Given the description of an element on the screen output the (x, y) to click on. 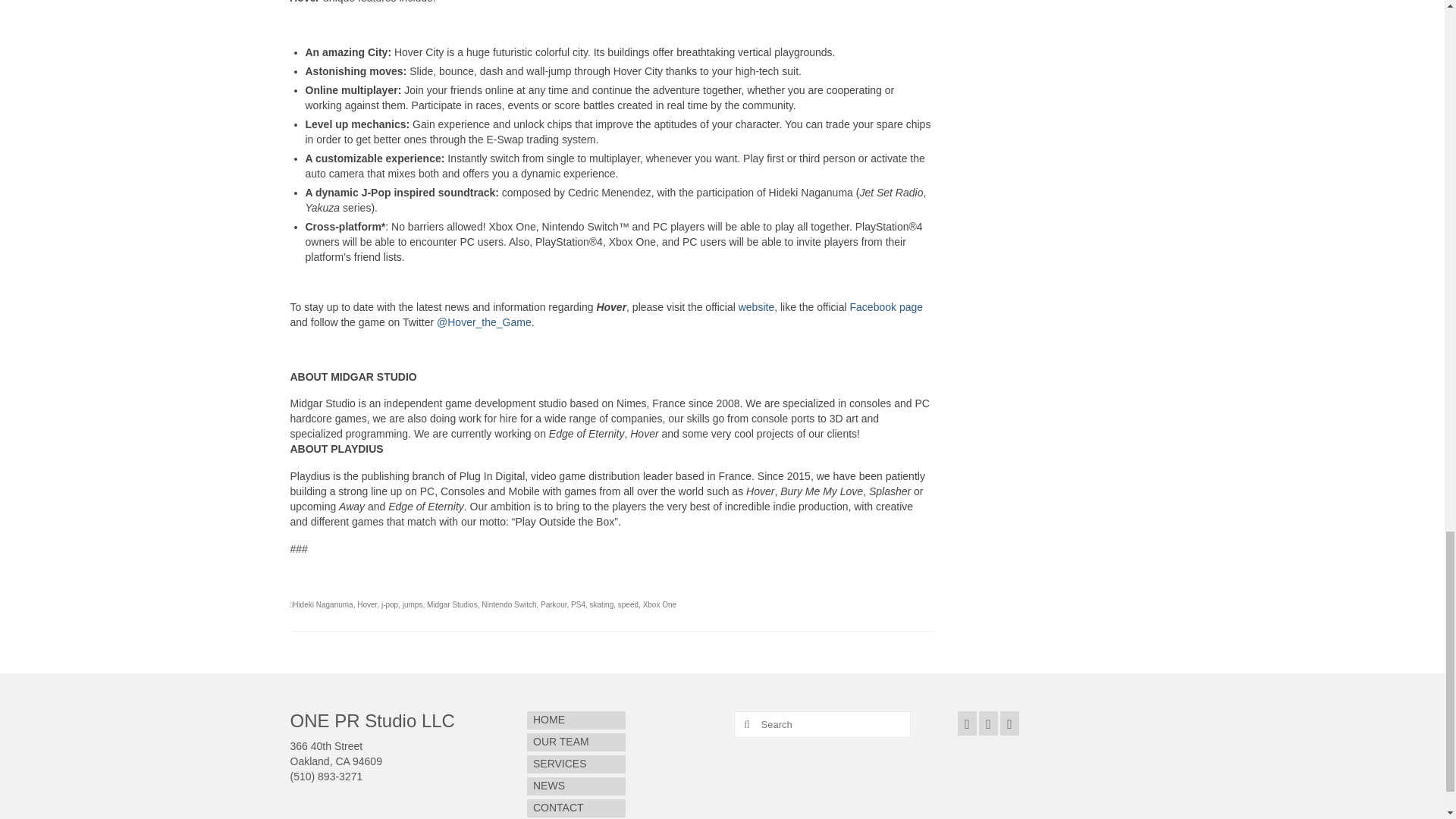
Hover (366, 604)
PS4 (577, 604)
jumps (413, 604)
speed (628, 604)
Facebook page (886, 306)
Nintendo Switch (508, 604)
j-pop (389, 604)
Hideki Naganuma (322, 604)
Midgar Studios (451, 604)
website (756, 306)
